Given the description of an element on the screen output the (x, y) to click on. 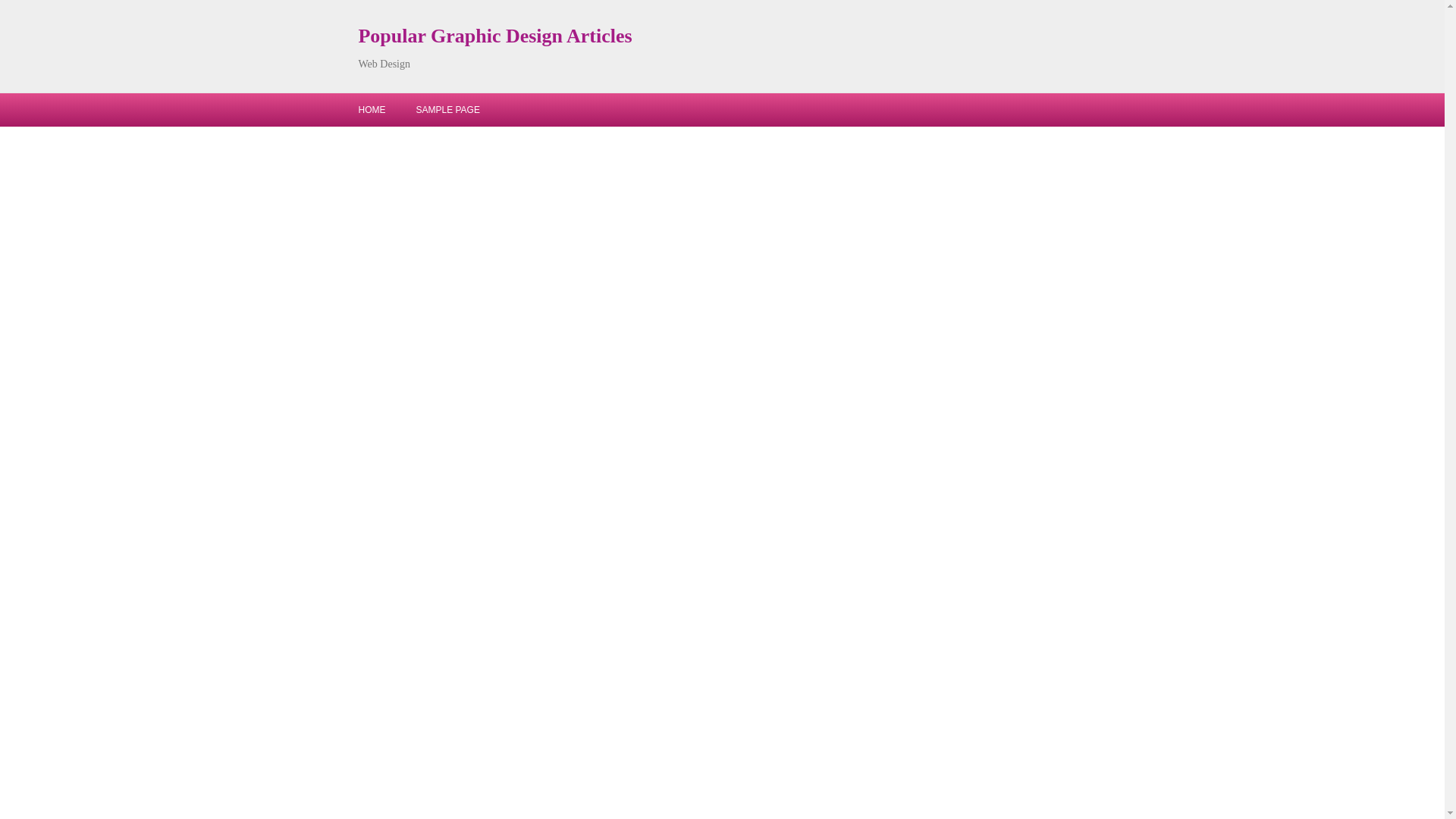
Popular Graphic Design Articles (494, 36)
Popular Graphic Design Articles (494, 36)
SAMPLE PAGE (446, 109)
